Given the description of an element on the screen output the (x, y) to click on. 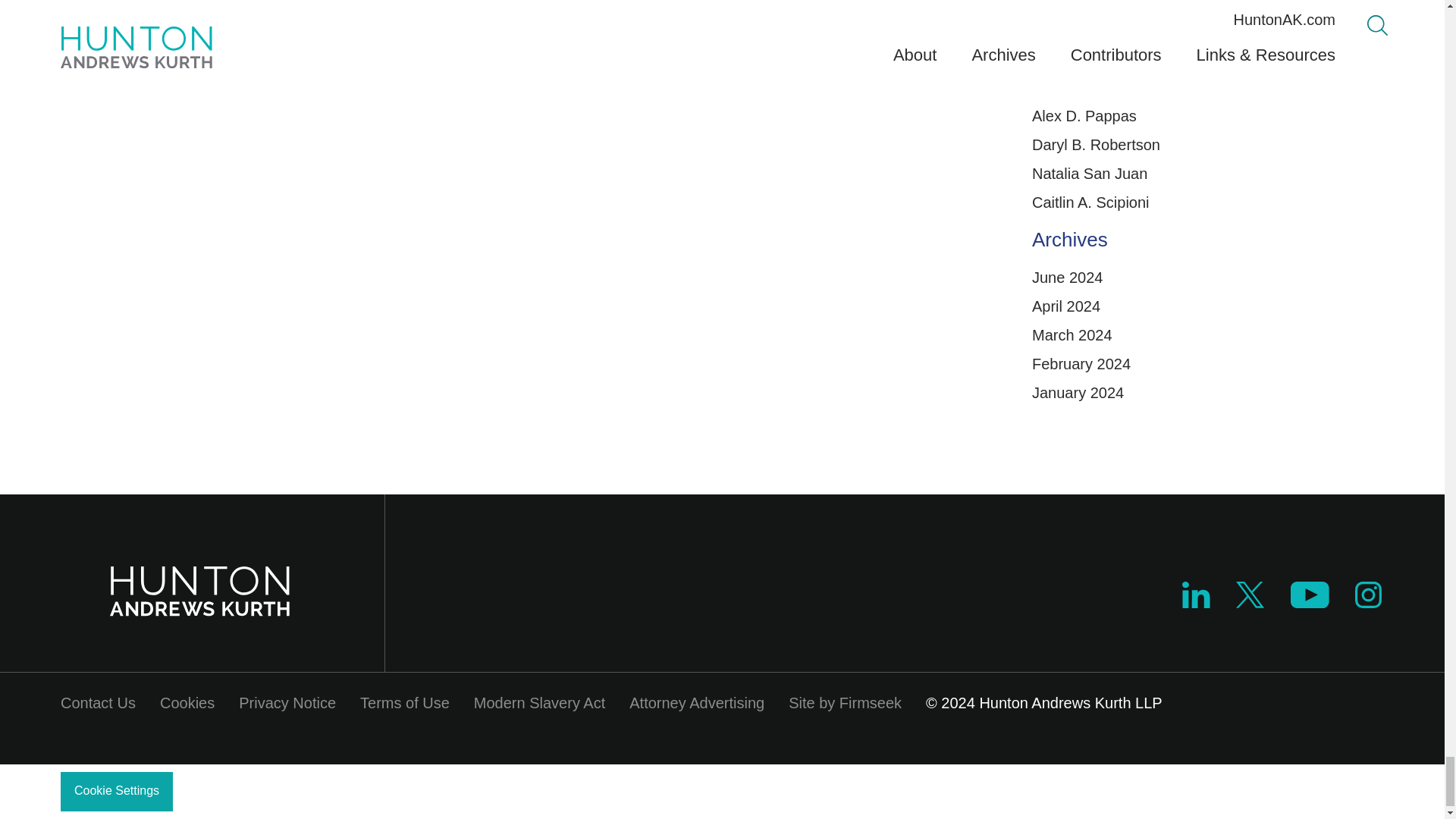
Youtube (1309, 594)
X (1250, 602)
Instagram (1369, 602)
Youtube (1309, 602)
Instagram (1368, 594)
Linkedin (1195, 602)
Linkedin (1195, 594)
